Given the description of an element on the screen output the (x, y) to click on. 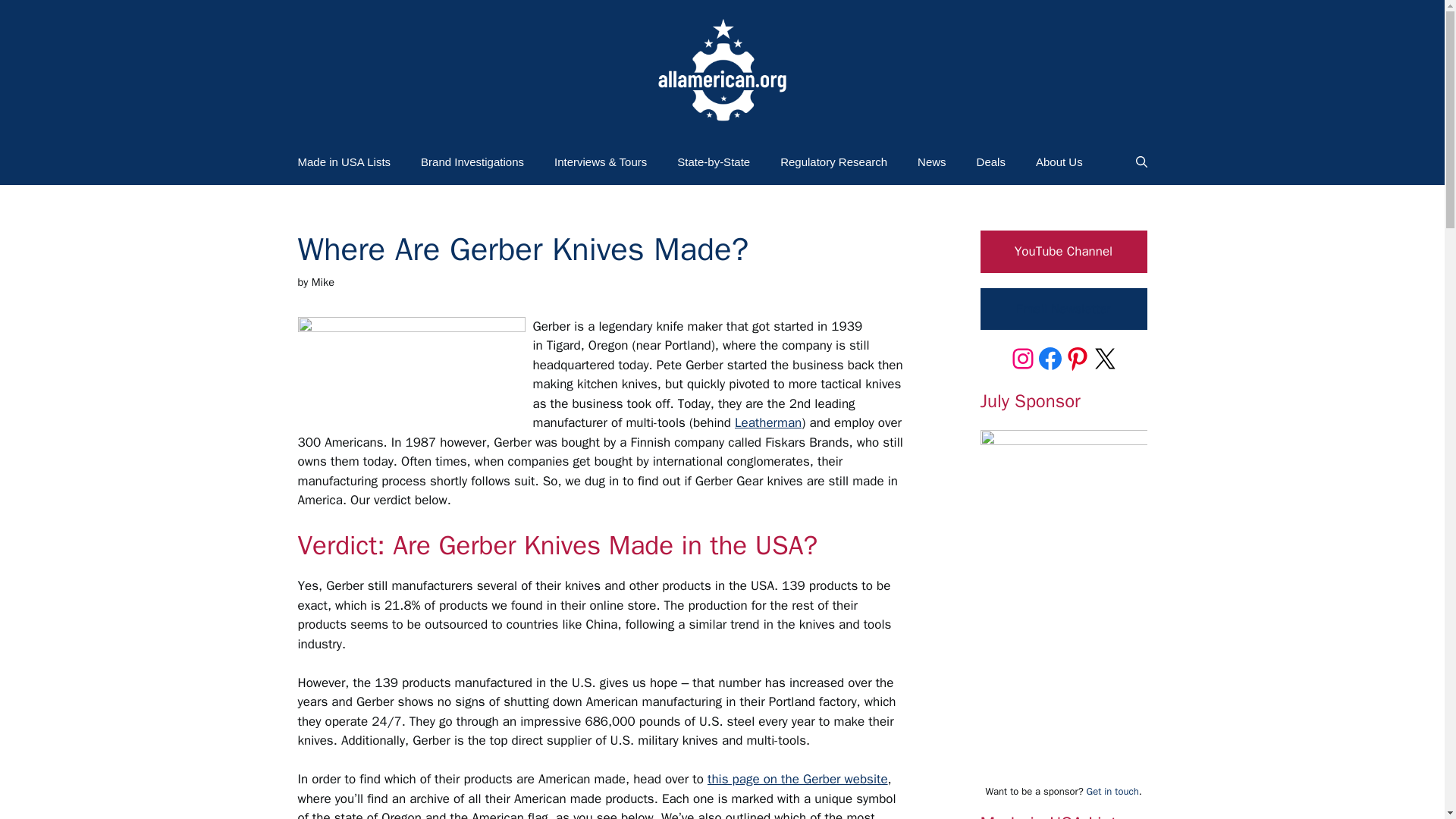
Regulatory Research (833, 162)
Made in USA Lists (344, 162)
Pinterest (1076, 358)
News (931, 162)
Email Newsletter (1063, 308)
State-by-State (713, 162)
YouTube Channel (1063, 251)
Deals (990, 162)
Brand Investigations (472, 162)
Leatherman (768, 422)
About Us (1058, 162)
this page on the Gerber website (797, 779)
Facebook (1048, 358)
Instagram (1022, 358)
